Given the description of an element on the screen output the (x, y) to click on. 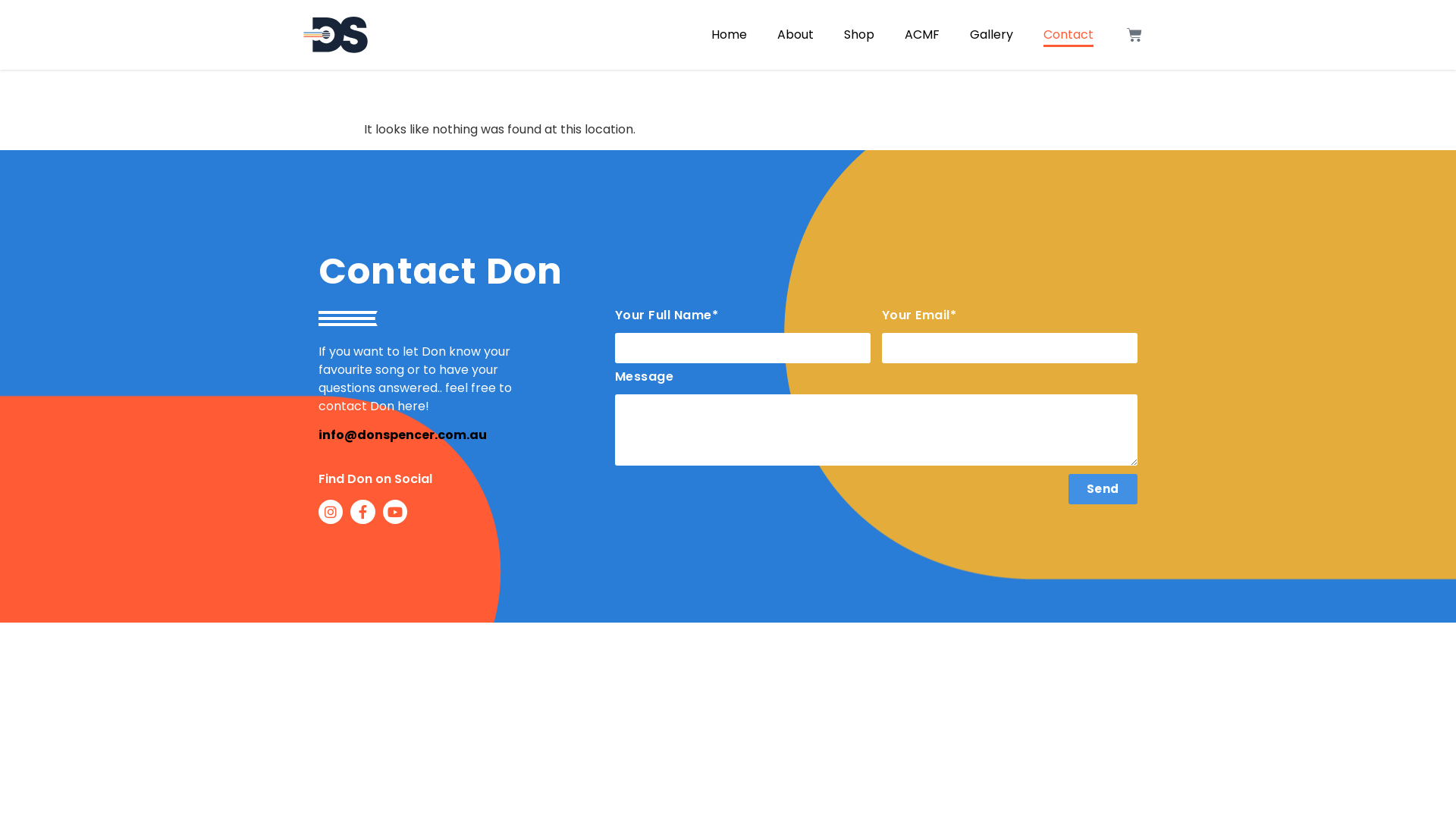
Home Element type: text (728, 34)
Contact Element type: text (1068, 34)
info@donspencer.com.au Element type: text (402, 434)
ACMF Element type: text (921, 34)
About Element type: text (795, 34)
Gallery Element type: text (991, 34)
Shop Element type: text (859, 34)
Send Element type: text (1102, 488)
